Given the description of an element on the screen output the (x, y) to click on. 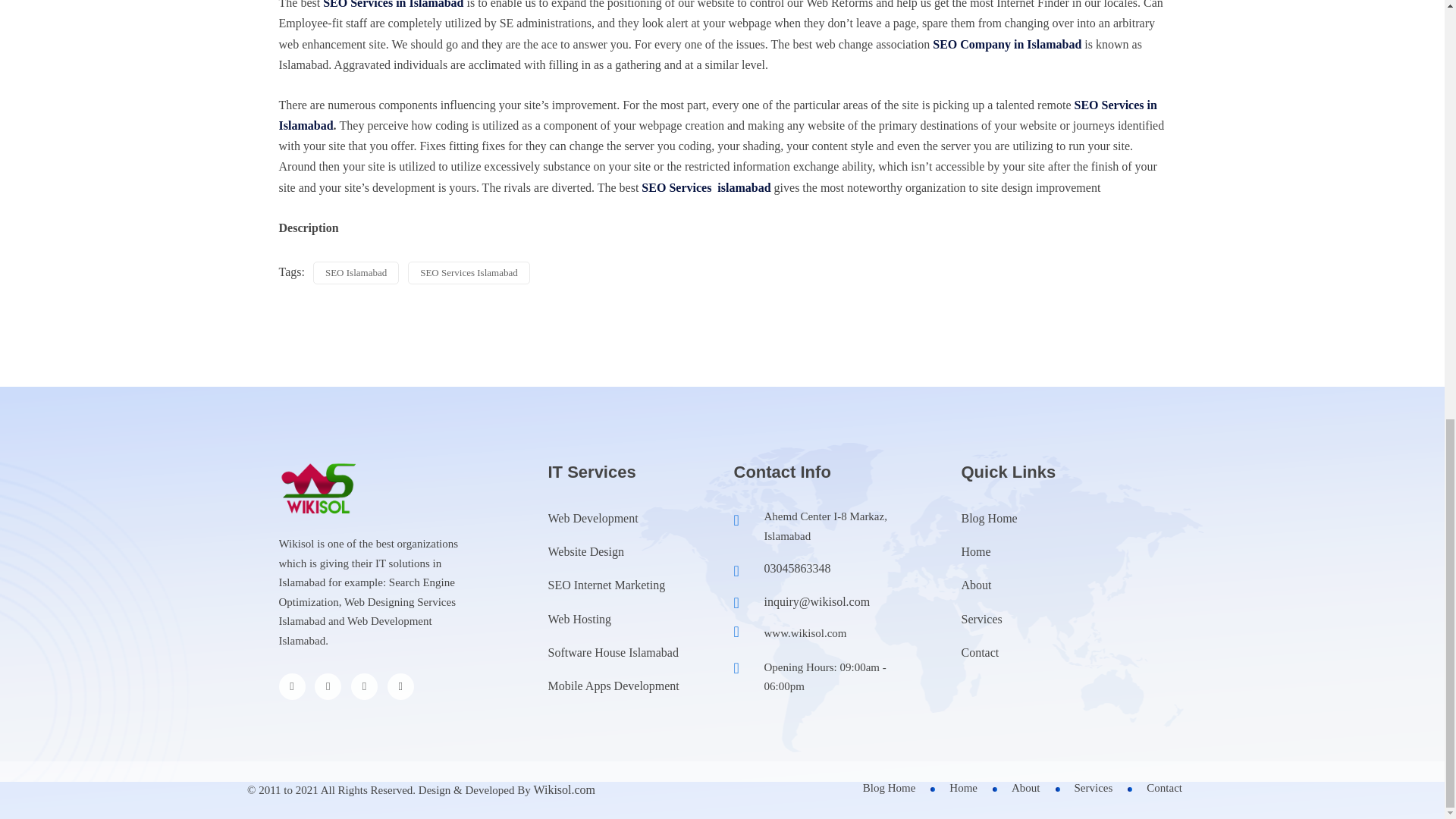
SEO Services  islamabad (706, 187)
SEO Services in Islamabad (393, 4)
SEO Company in Islamabad (1007, 43)
SEO Services in Islamabad (718, 114)
